Given the description of an element on the screen output the (x, y) to click on. 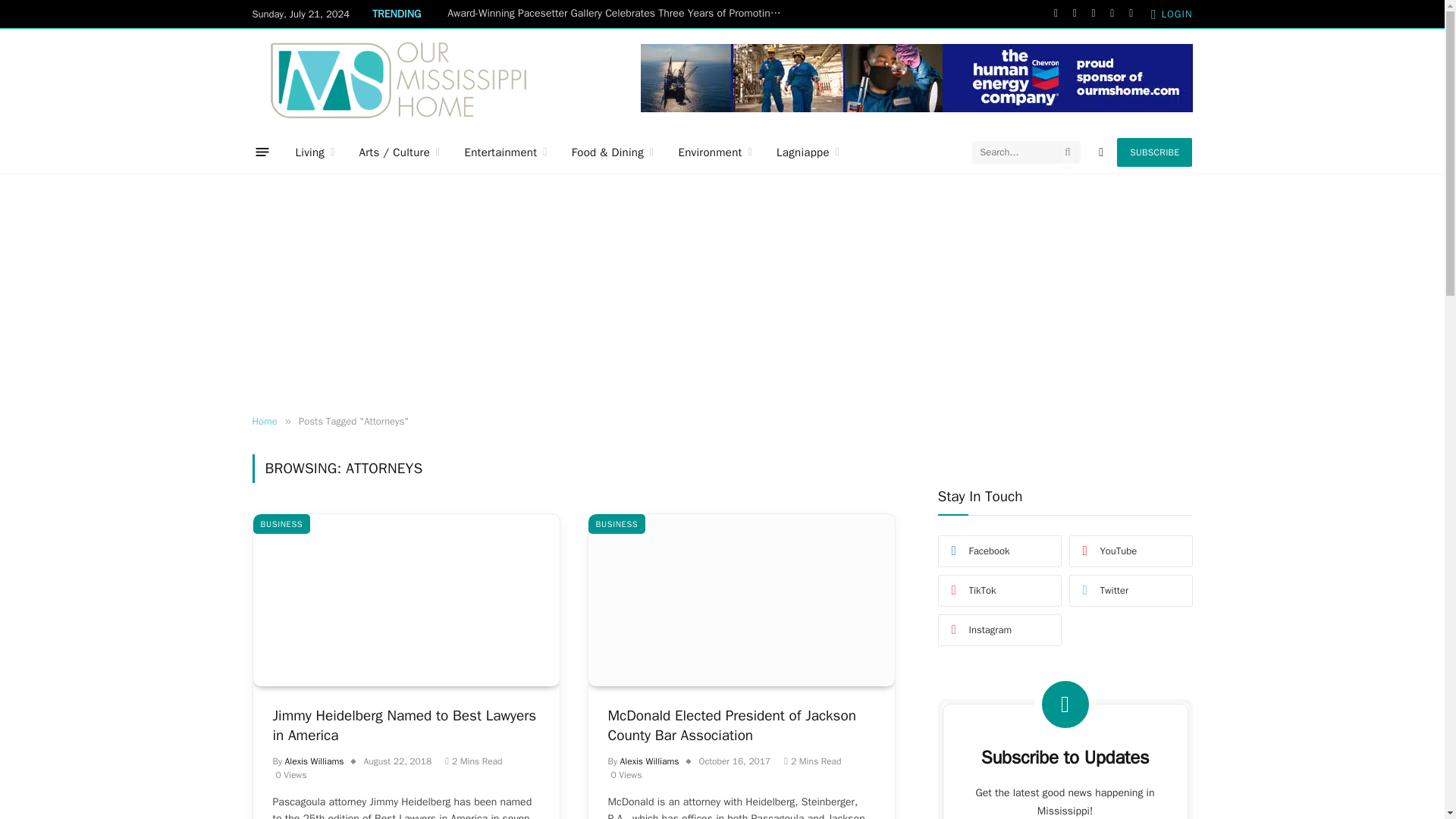
Our Mississippi Home (397, 79)
LOGIN (1171, 13)
Living (315, 151)
